Given the description of an element on the screen output the (x, y) to click on. 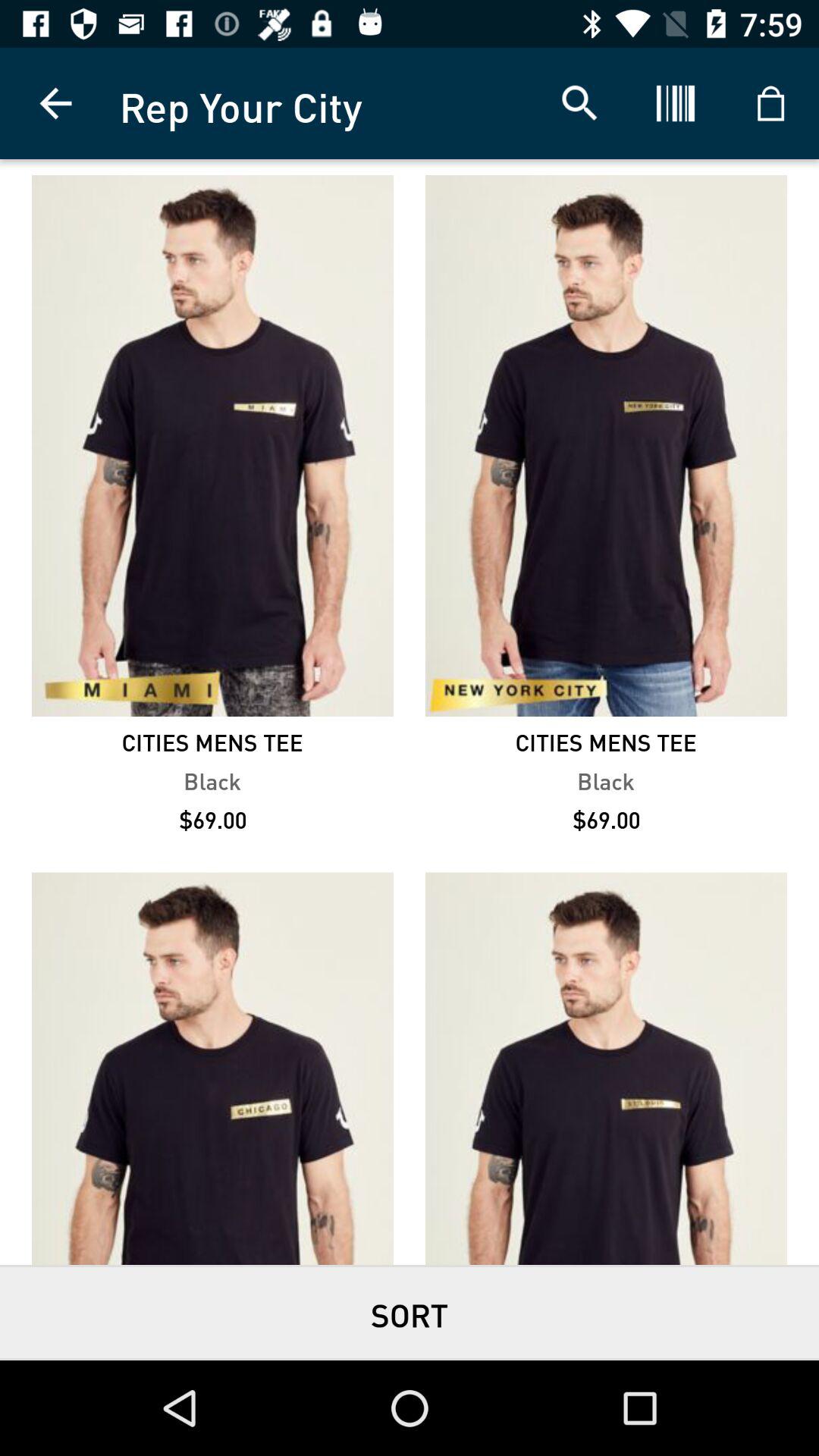
select the bottom pic from left (212, 1068)
click on the text icon which is right side of search bar (675, 103)
click on second image (606, 445)
select the bag option (771, 103)
